Given the description of an element on the screen output the (x, y) to click on. 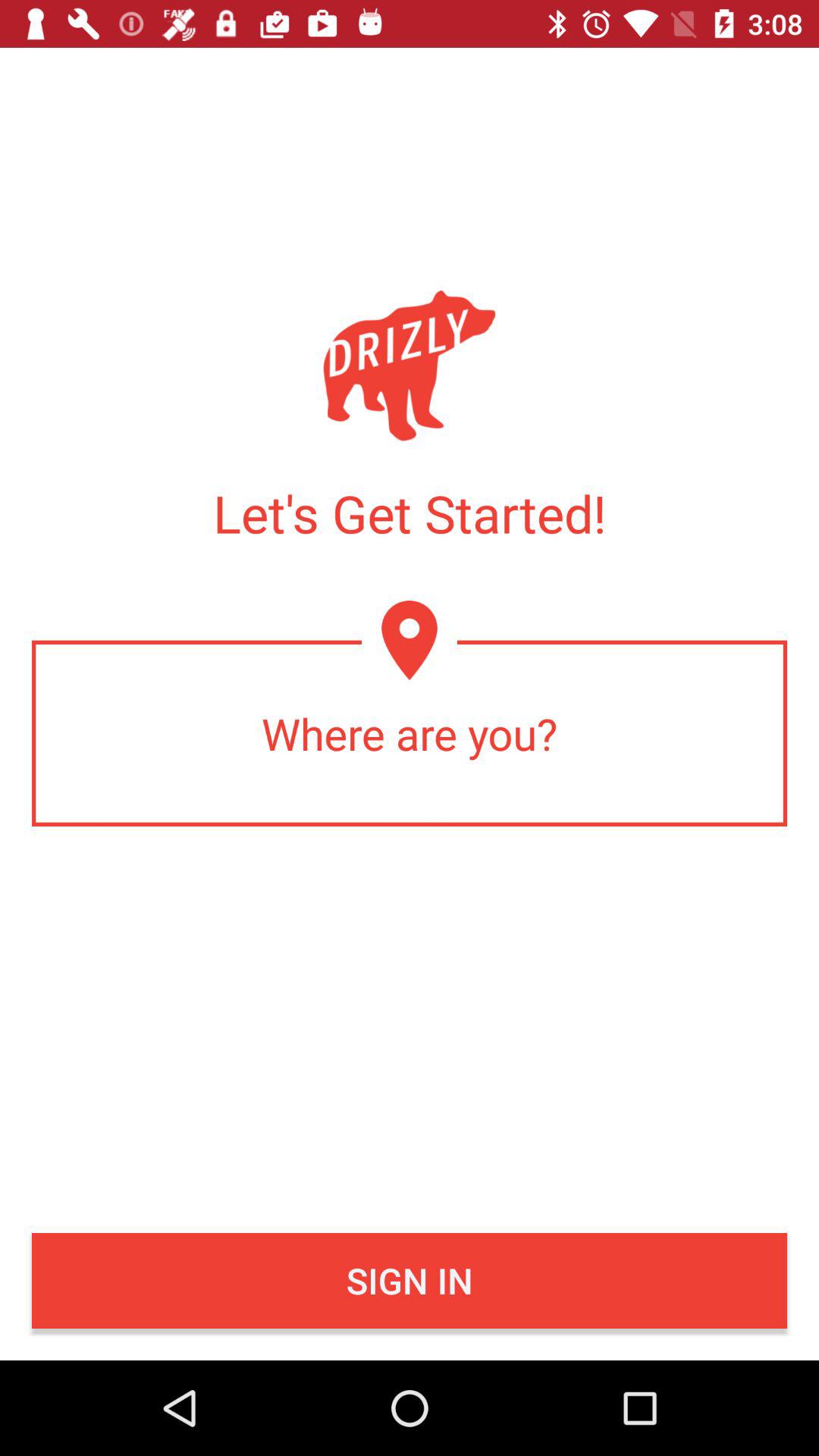
swipe to the sign in icon (409, 1280)
